Given the description of an element on the screen output the (x, y) to click on. 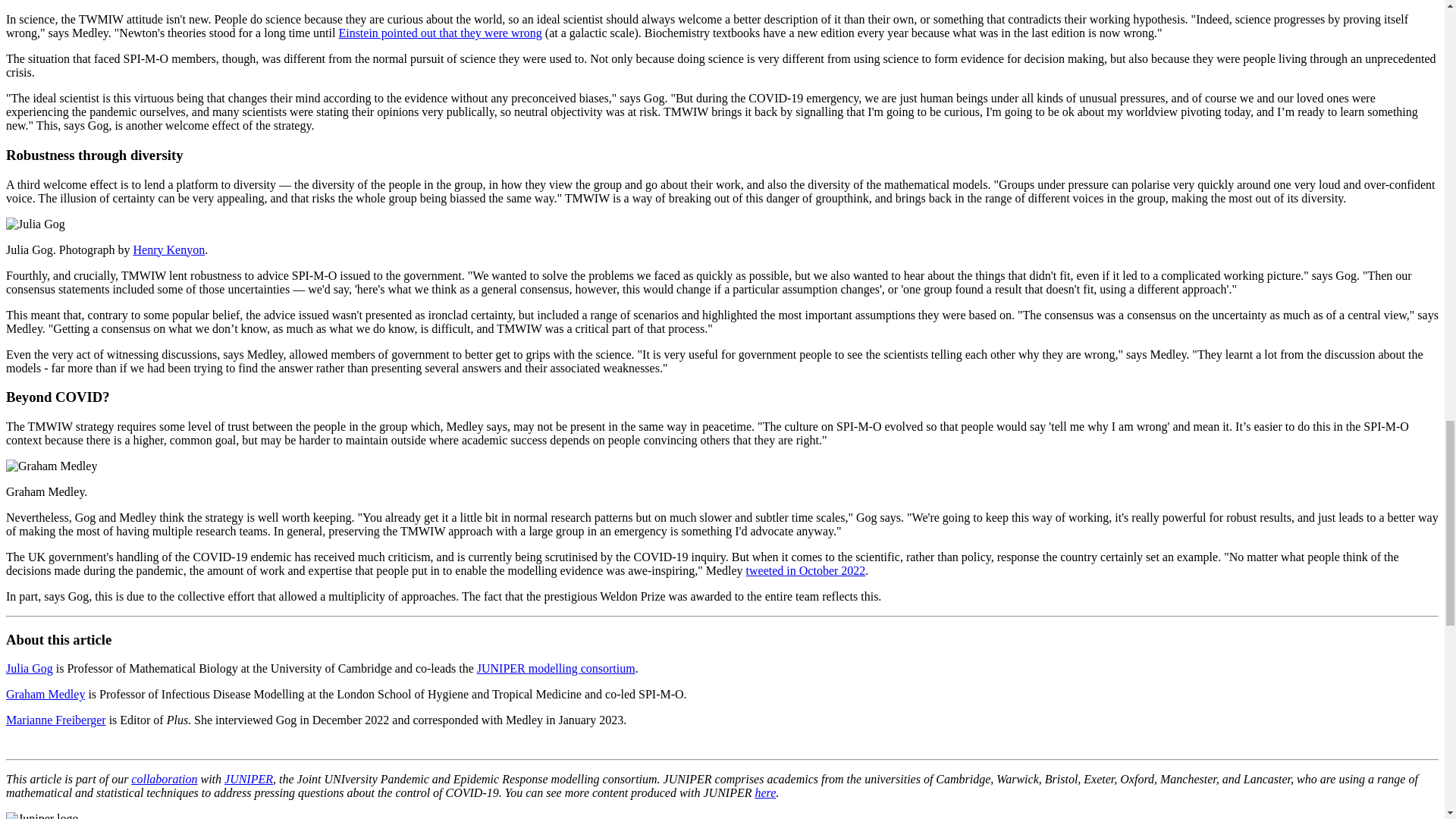
Henry Kenyon (169, 249)
Einstein pointed out that they were wrong (439, 32)
